Given the description of an element on the screen output the (x, y) to click on. 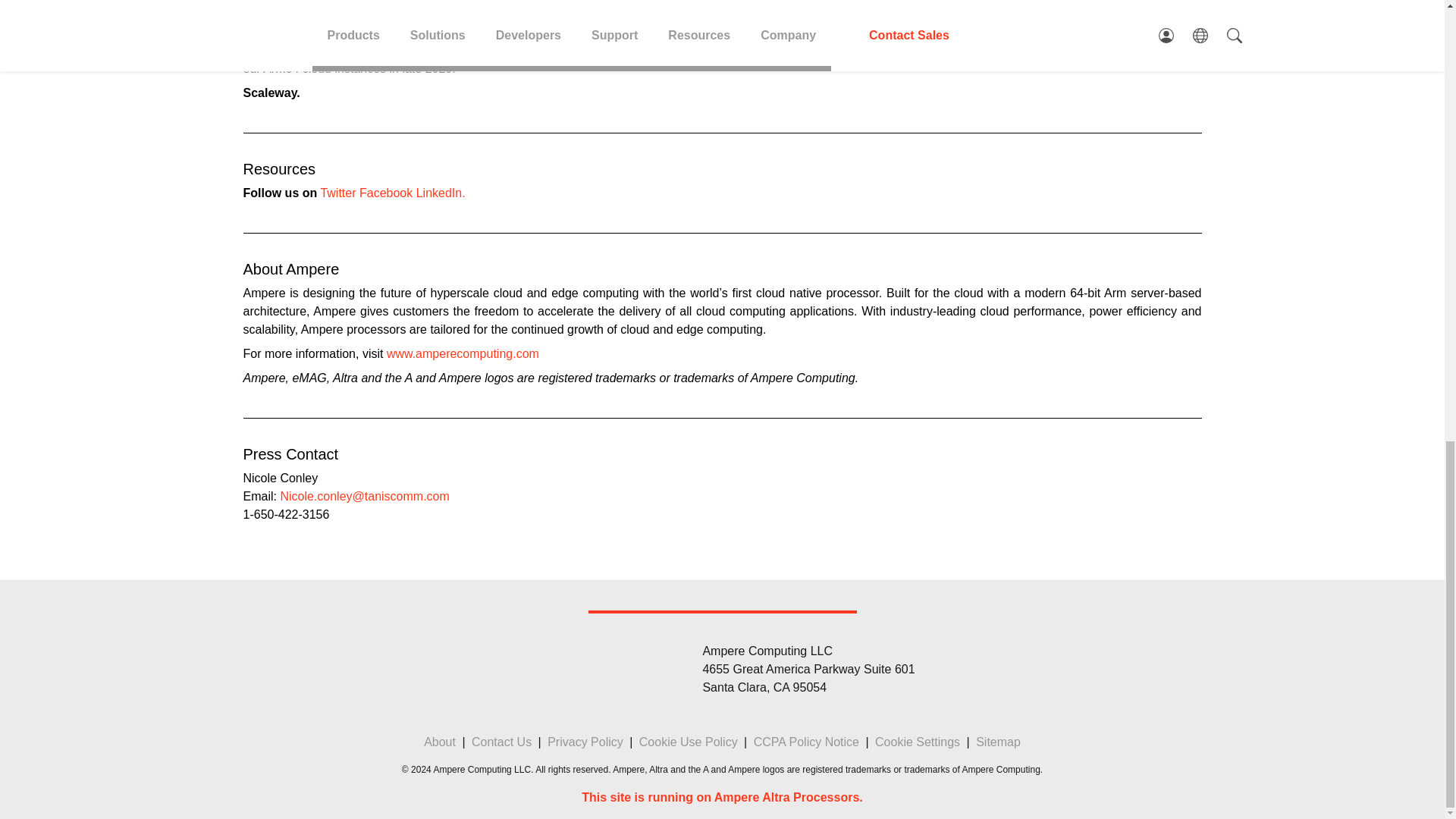
Twitter (337, 192)
Cookie Settings (917, 742)
CCPA Policy Notice (806, 742)
About (439, 742)
Cookie Use Policy (688, 742)
Contact Us (501, 742)
www.amperecomputing.com (462, 353)
Privacy Policy (585, 742)
Facebook (385, 192)
LinkedIn. (440, 192)
